Given the description of an element on the screen output the (x, y) to click on. 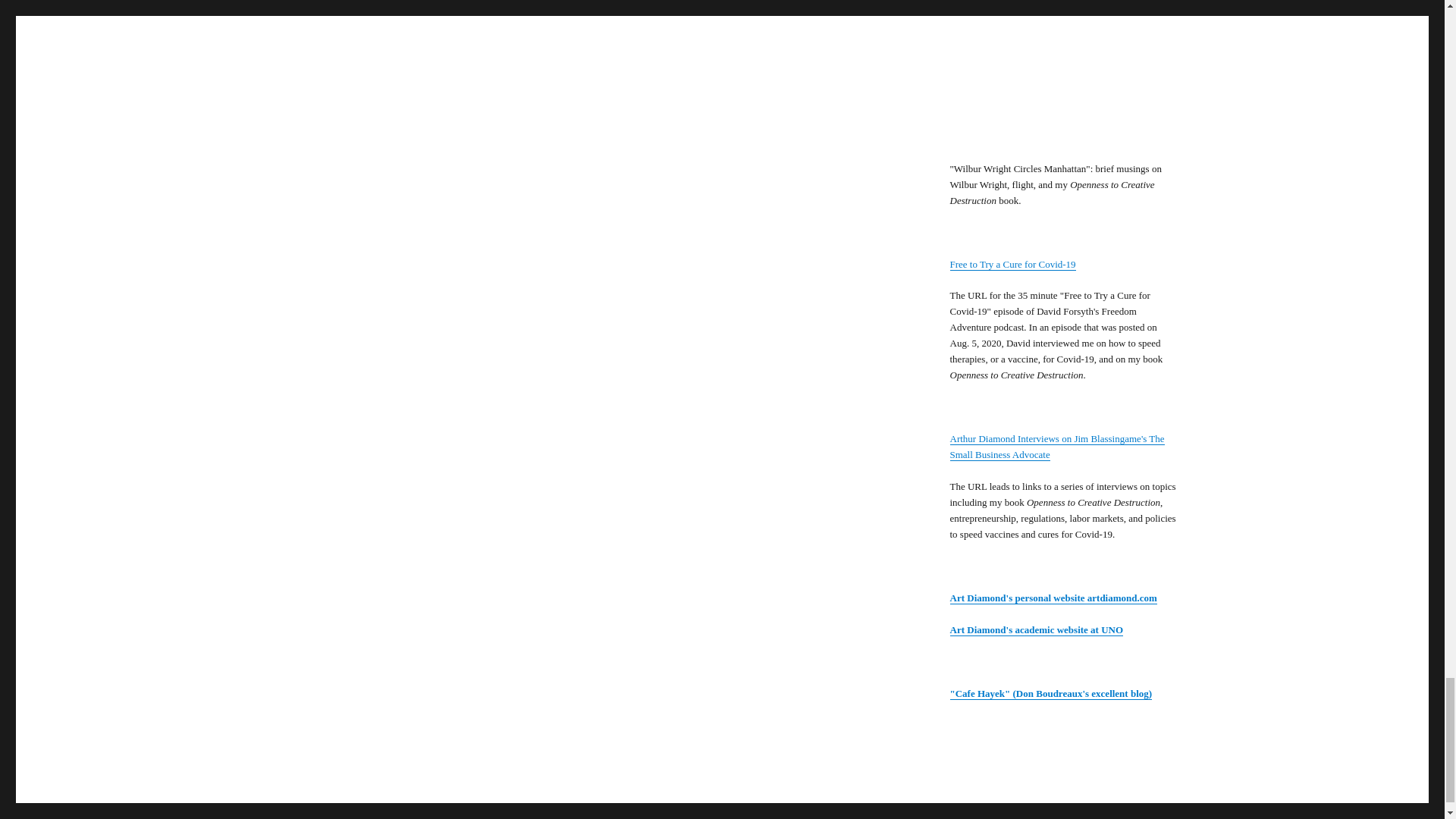
Art Diamond's academic website at UNO (1035, 629)
Free to Try a Cure for Covid-19 (1012, 264)
Art Diamond's personal website artdiamond.com (1052, 597)
